Given the description of an element on the screen output the (x, y) to click on. 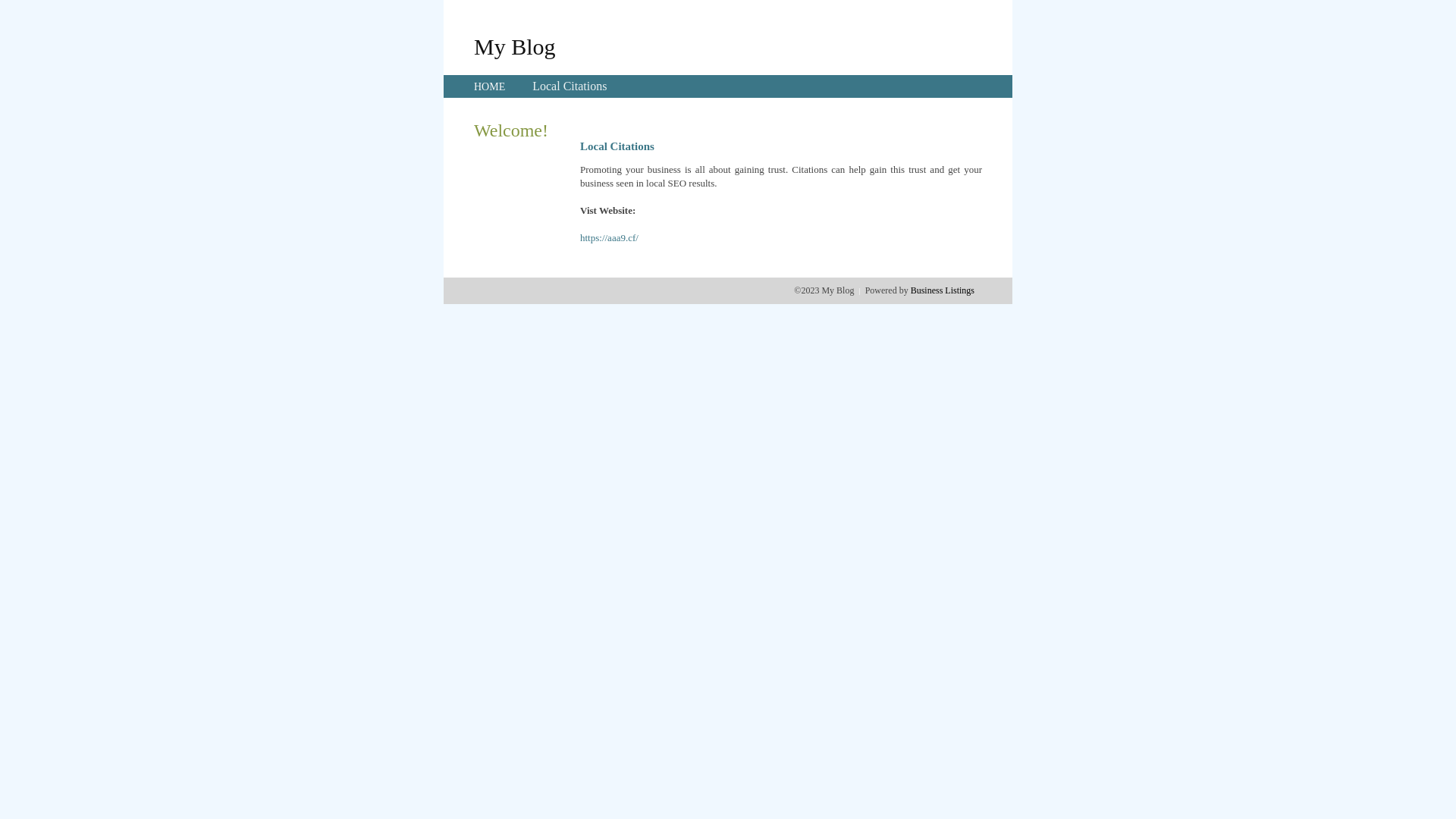
Business Listings Element type: text (942, 290)
HOME Element type: text (489, 86)
My Blog Element type: text (514, 46)
https://aaa9.cf/ Element type: text (609, 237)
Local Citations Element type: text (569, 85)
